Given the description of an element on the screen output the (x, y) to click on. 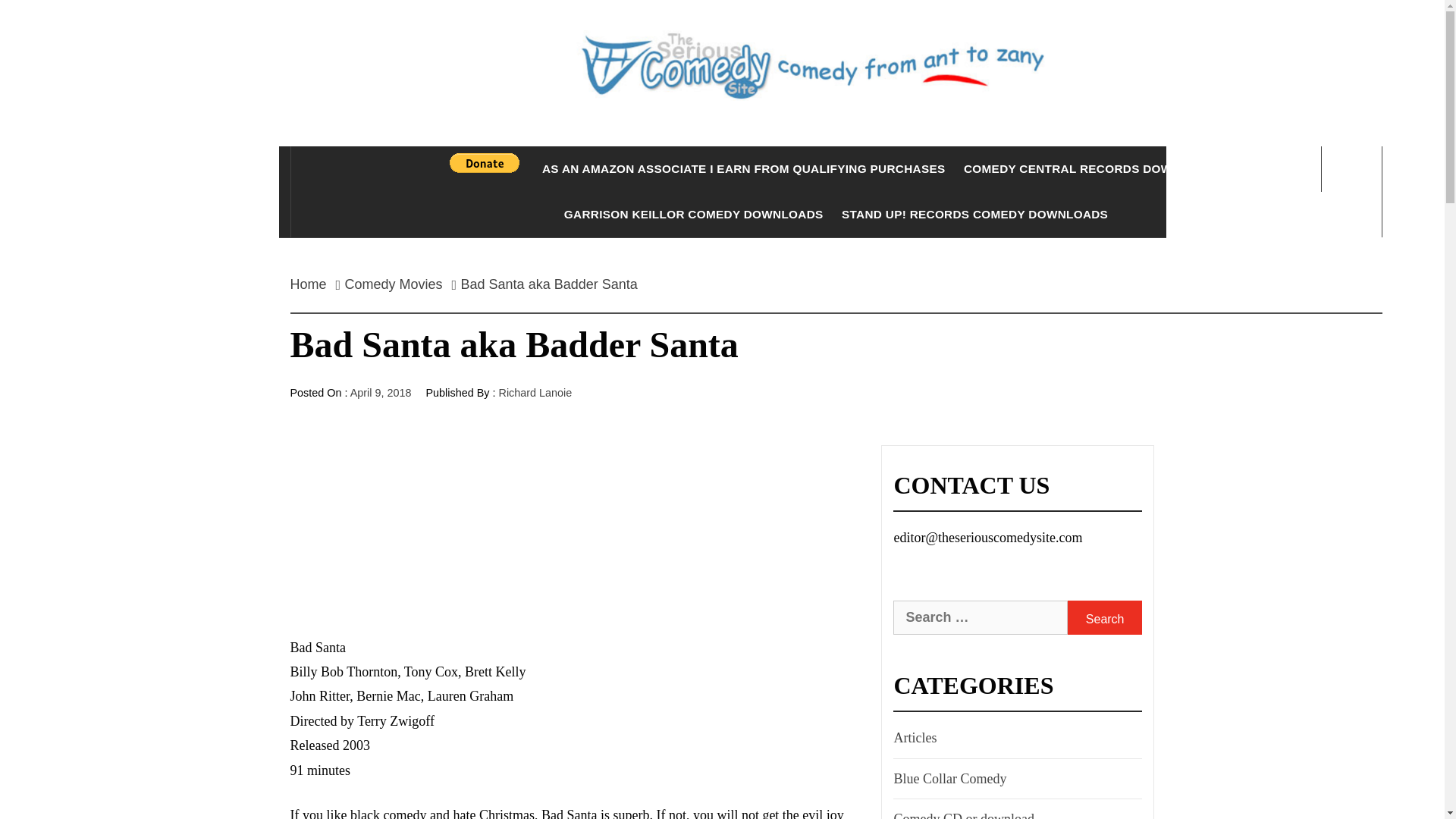
Search (1104, 617)
Comedy CD or download (961, 812)
STAND UP! RECORDS COMEDY DOWNLOADS (974, 214)
April 9, 2018 (381, 392)
Search (1104, 617)
PayPal - The safer, easier way to pay online! (484, 162)
COMEDY CENTRAL RECORDS DOWNLOADS (1093, 168)
Bad Santa aka Badder Santa (548, 283)
Search (797, 37)
Home (311, 283)
THE SERIOUS COMEDY SITE (836, 164)
Comedy Movies (393, 283)
AS AN AMAZON ASSOCIATE I EARN FROM QUALIFYING PURCHASES (743, 168)
Articles (912, 737)
GARRISON KEILLOR COMEDY DOWNLOADS (693, 214)
